Given the description of an element on the screen output the (x, y) to click on. 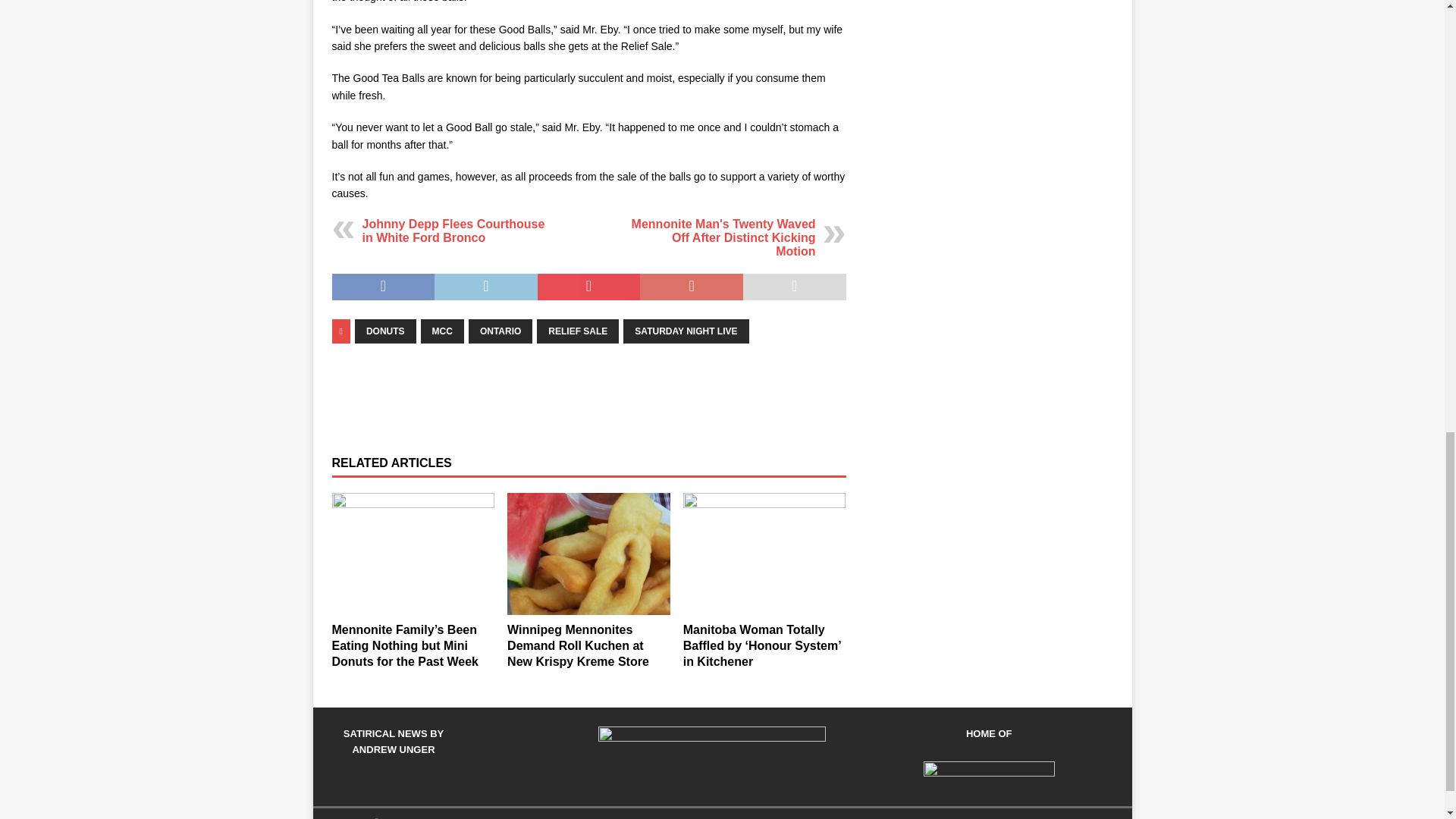
SATURDAY NIGHT LIVE (685, 331)
MCC (442, 331)
RELIEF SALE (577, 331)
Johnny Depp Flees Courthouse in White Ford Bronco (453, 230)
DONUTS (385, 331)
ONTARIO (500, 331)
